Given the description of an element on the screen output the (x, y) to click on. 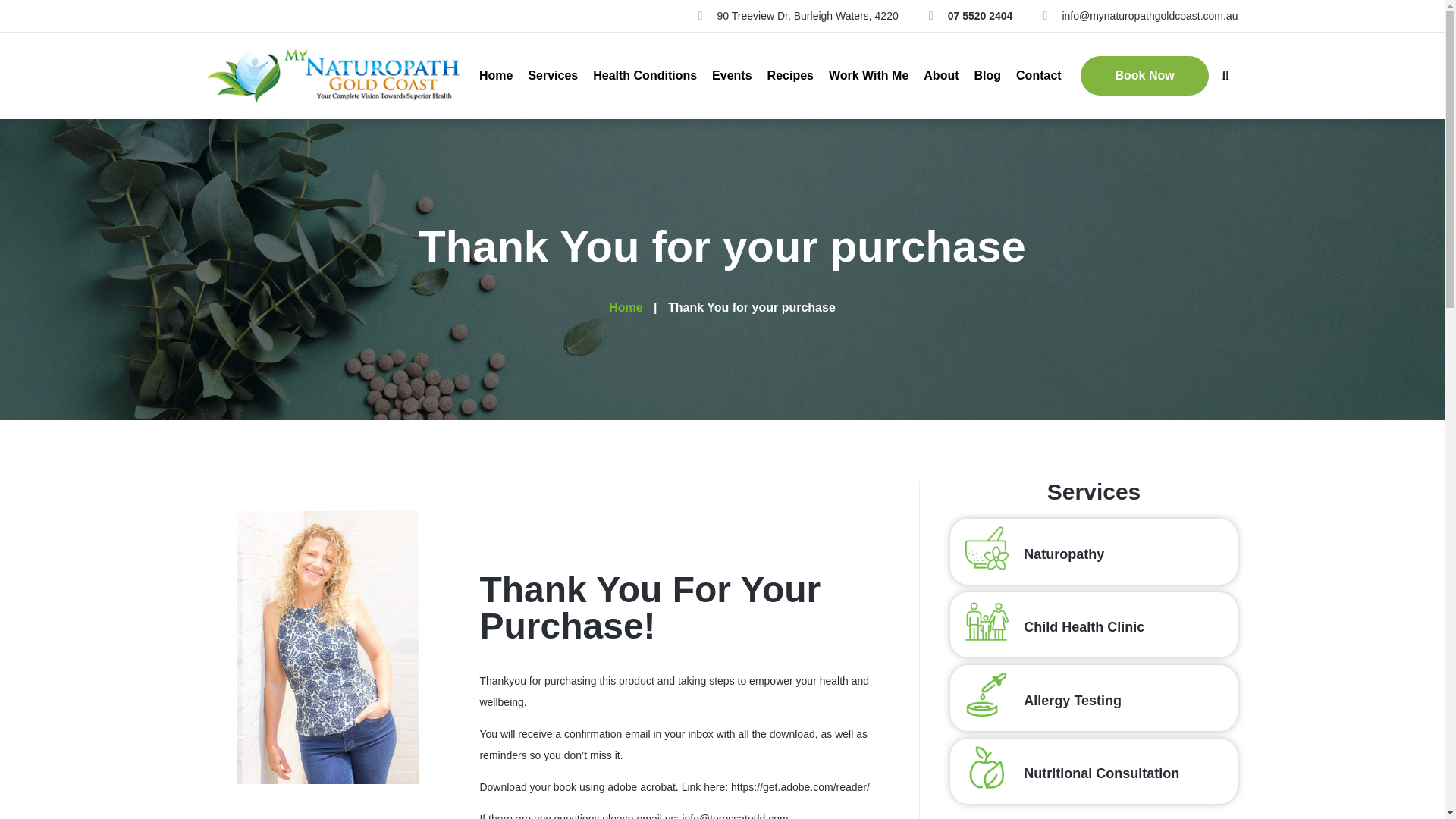
Home (495, 75)
Health Conditions (644, 75)
About (940, 75)
Services (552, 75)
Blog (987, 75)
Work With Me (868, 75)
Contact (1038, 75)
Events (731, 75)
Recipes (790, 75)
07 5520 2404 (970, 15)
